Given the description of an element on the screen output the (x, y) to click on. 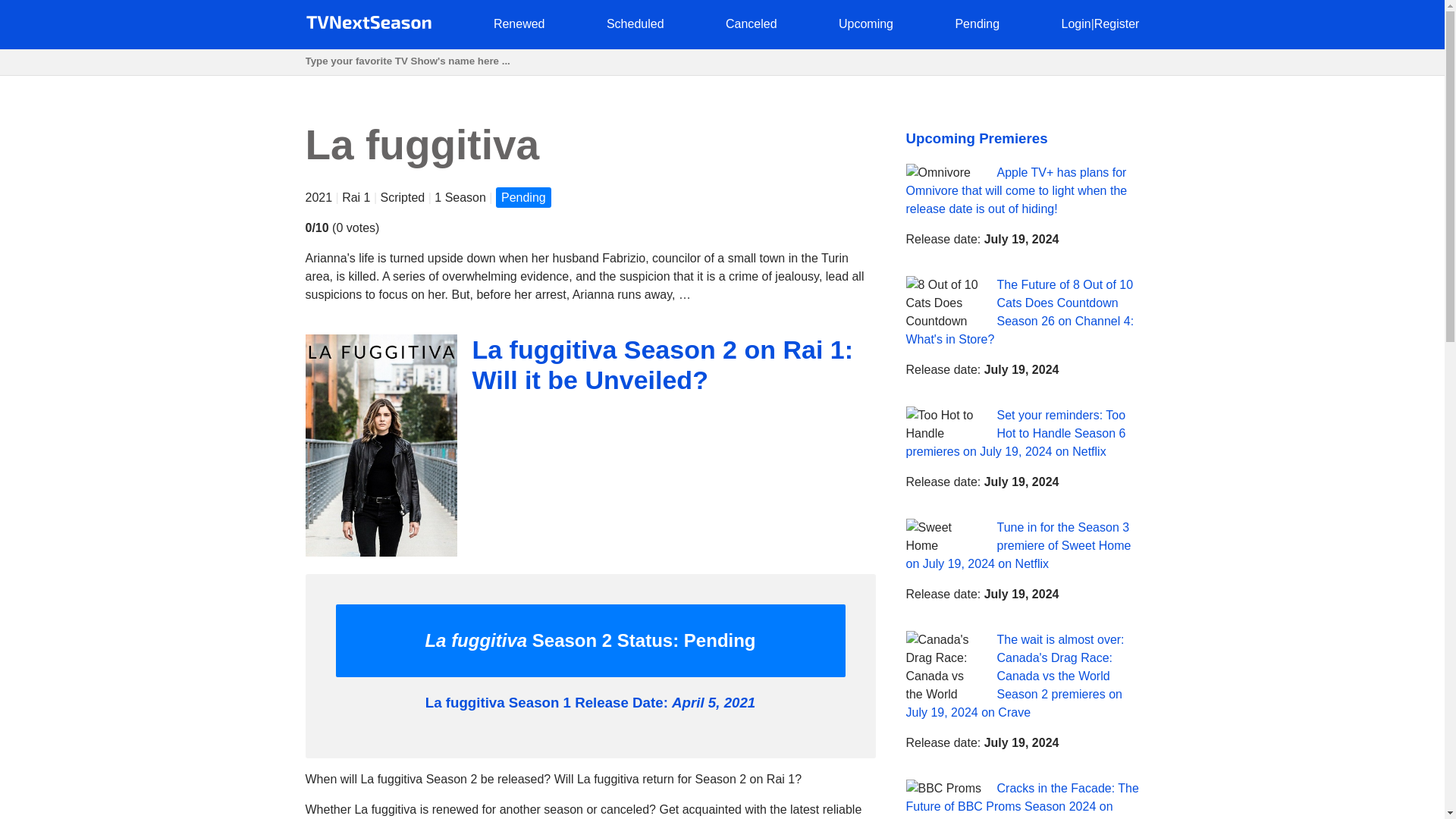
Canceled (751, 23)
Scheduled (635, 23)
Register (1117, 23)
Login (1075, 23)
Renewed (518, 23)
Pending (976, 23)
Upcoming (865, 23)
